Given the description of an element on the screen output the (x, y) to click on. 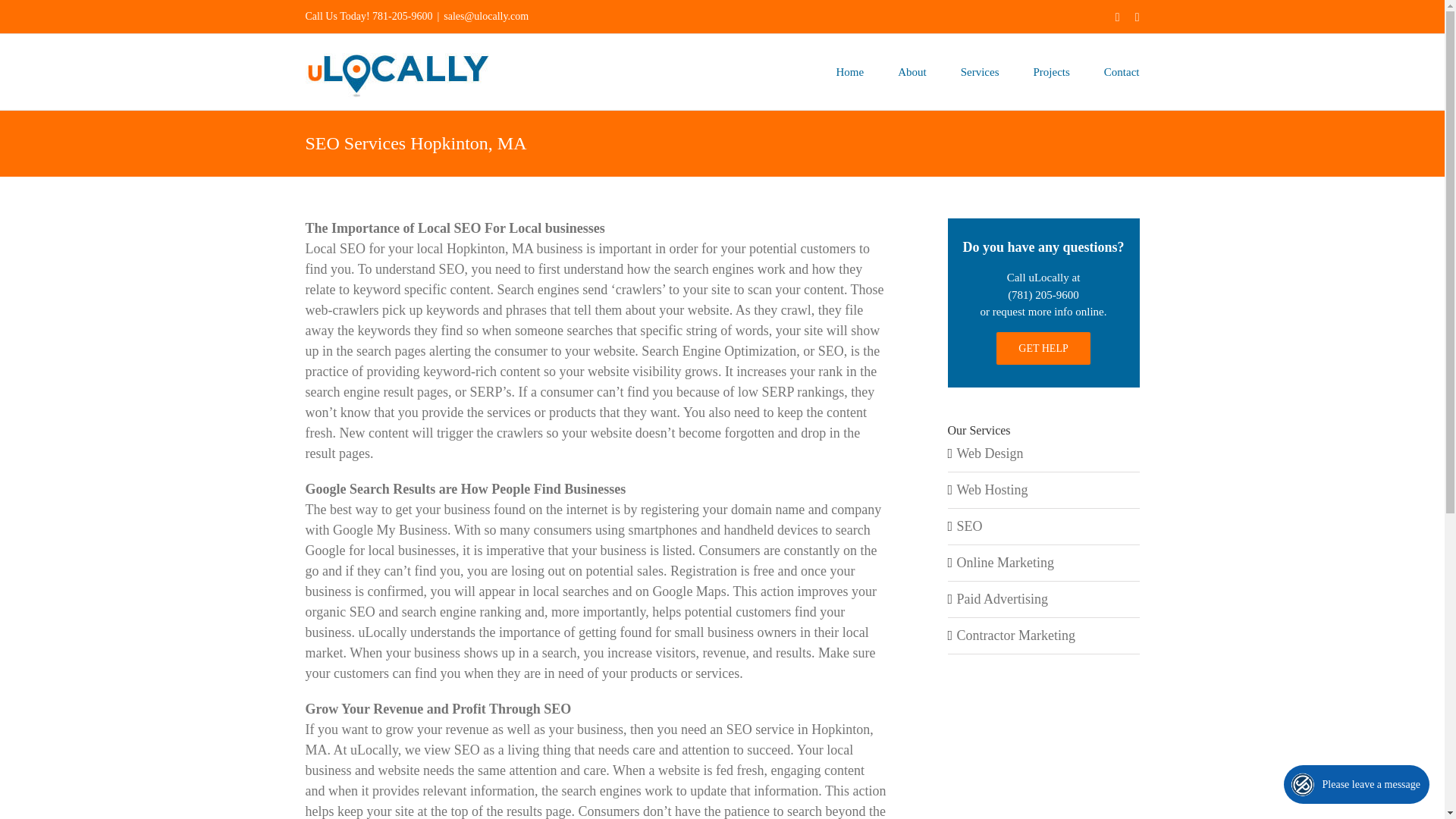
Projects (1051, 71)
SEO (969, 525)
Contact (1121, 71)
Paid Advertising (1002, 598)
Online Marketing (1005, 562)
About (912, 71)
Home (849, 71)
Web Hosting (991, 489)
Web Design (989, 453)
Services (979, 71)
GET HELP (1042, 348)
Contractor Marketing (1015, 635)
Twitter (1137, 17)
Facebook (1117, 17)
